Given the description of an element on the screen output the (x, y) to click on. 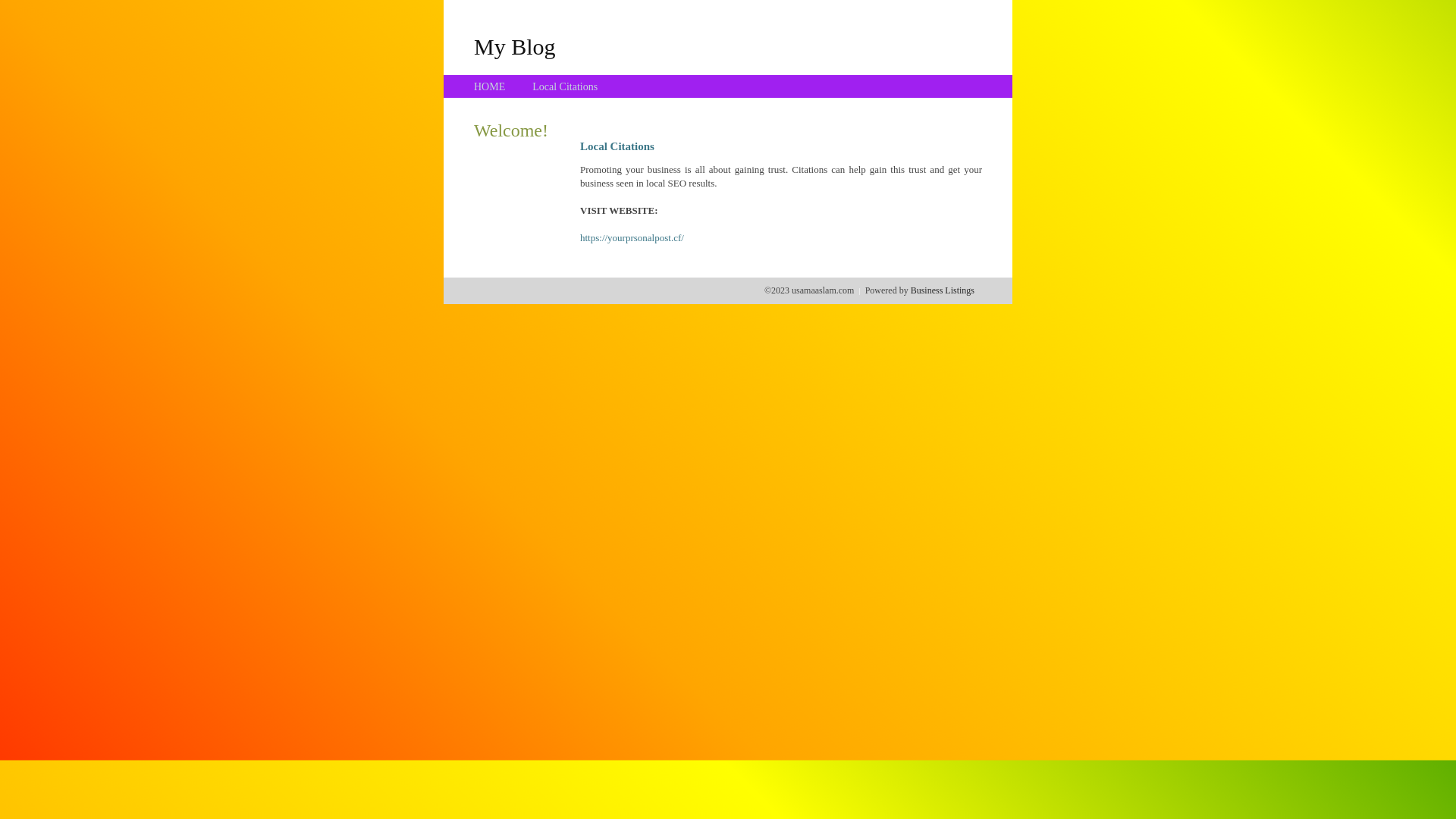
HOME Element type: text (489, 86)
https://yourprsonalpost.cf/ Element type: text (632, 237)
Business Listings Element type: text (942, 290)
Local Citations Element type: text (564, 86)
My Blog Element type: text (514, 46)
